Given the description of an element on the screen output the (x, y) to click on. 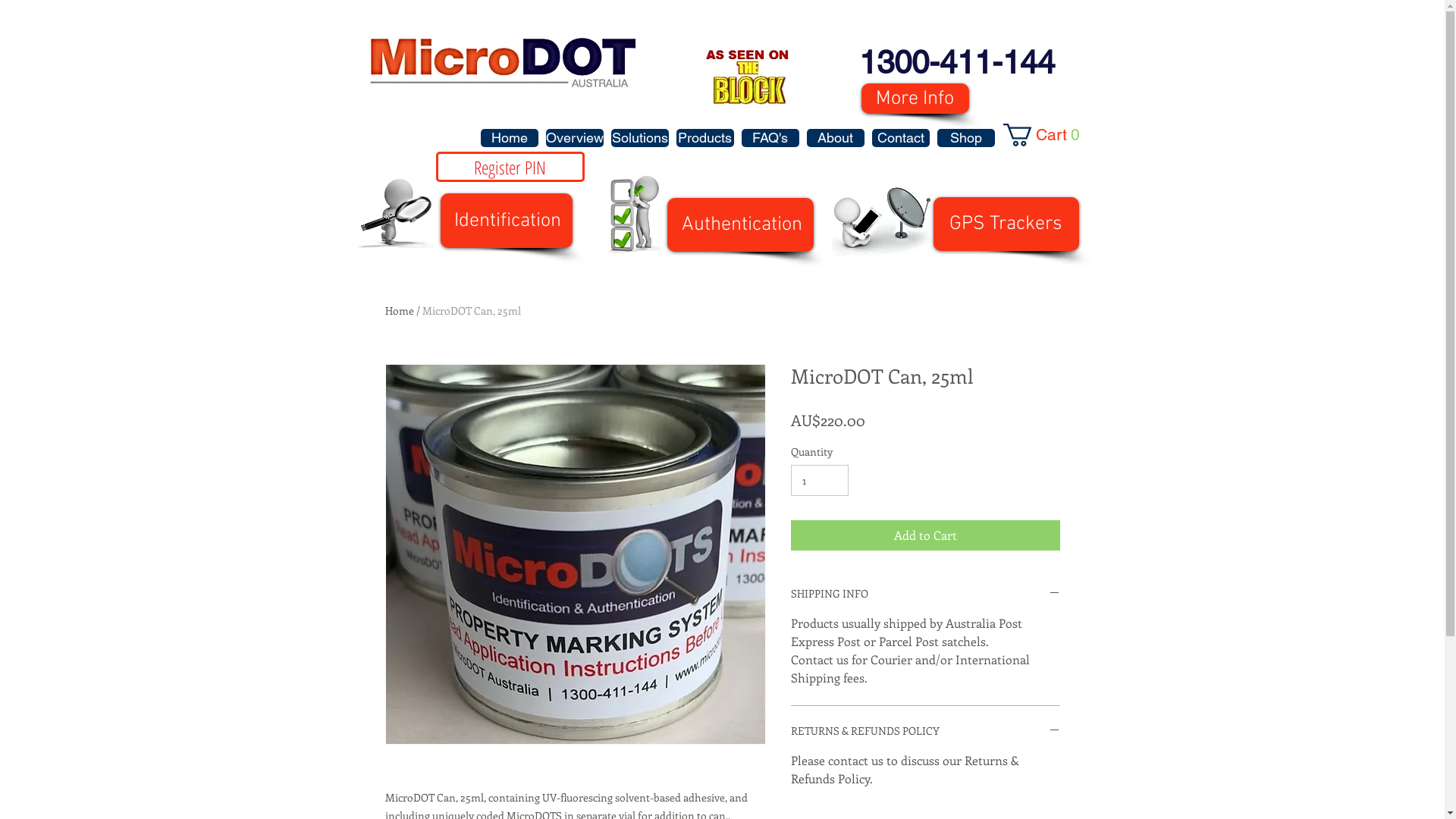
Home Element type: text (399, 310)
SHIPPING INFO Element type: text (924, 593)
Home Element type: text (509, 137)
Cart
0 Element type: text (1045, 134)
Register PIN Element type: text (509, 166)
Contact Element type: text (900, 137)
RETURNS & REFUNDS POLICY Element type: text (924, 731)
More Info Element type: text (915, 98)
Conversion Popup Element type: hover (722, 15)
Shop Element type: text (965, 137)
Authentication Element type: text (740, 224)
MicroDOT Can, 25ml Element type: text (470, 310)
Identification Element type: text (505, 220)
Solutions Element type: text (639, 137)
GPS Trackers Element type: text (1005, 224)
Add to Cart Element type: text (924, 535)
Site Search Element type: hover (1002, 169)
About Element type: text (835, 137)
